Given the description of an element on the screen output the (x, y) to click on. 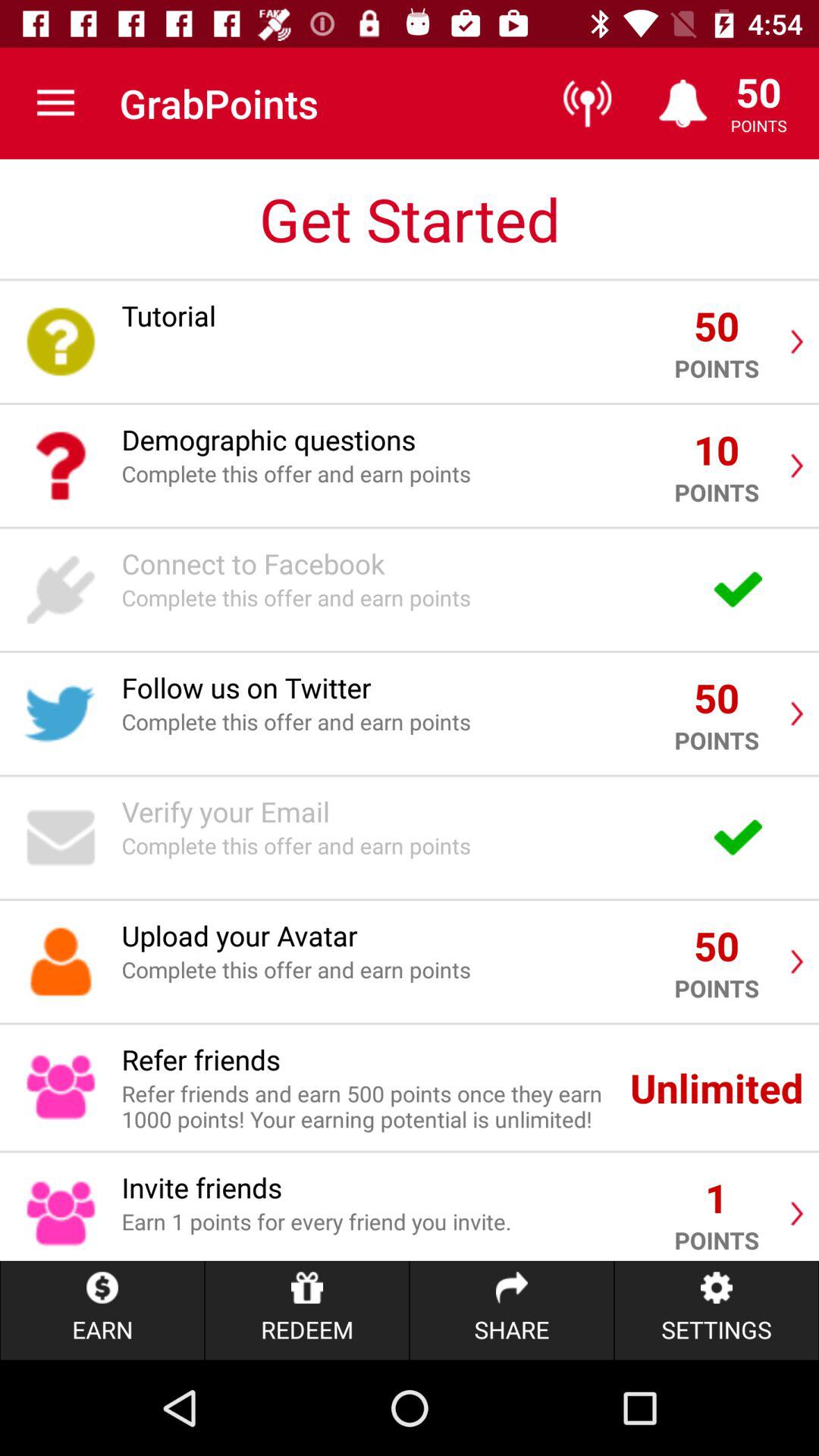
click icon to the right of redeem item (511, 1310)
